Given the description of an element on the screen output the (x, y) to click on. 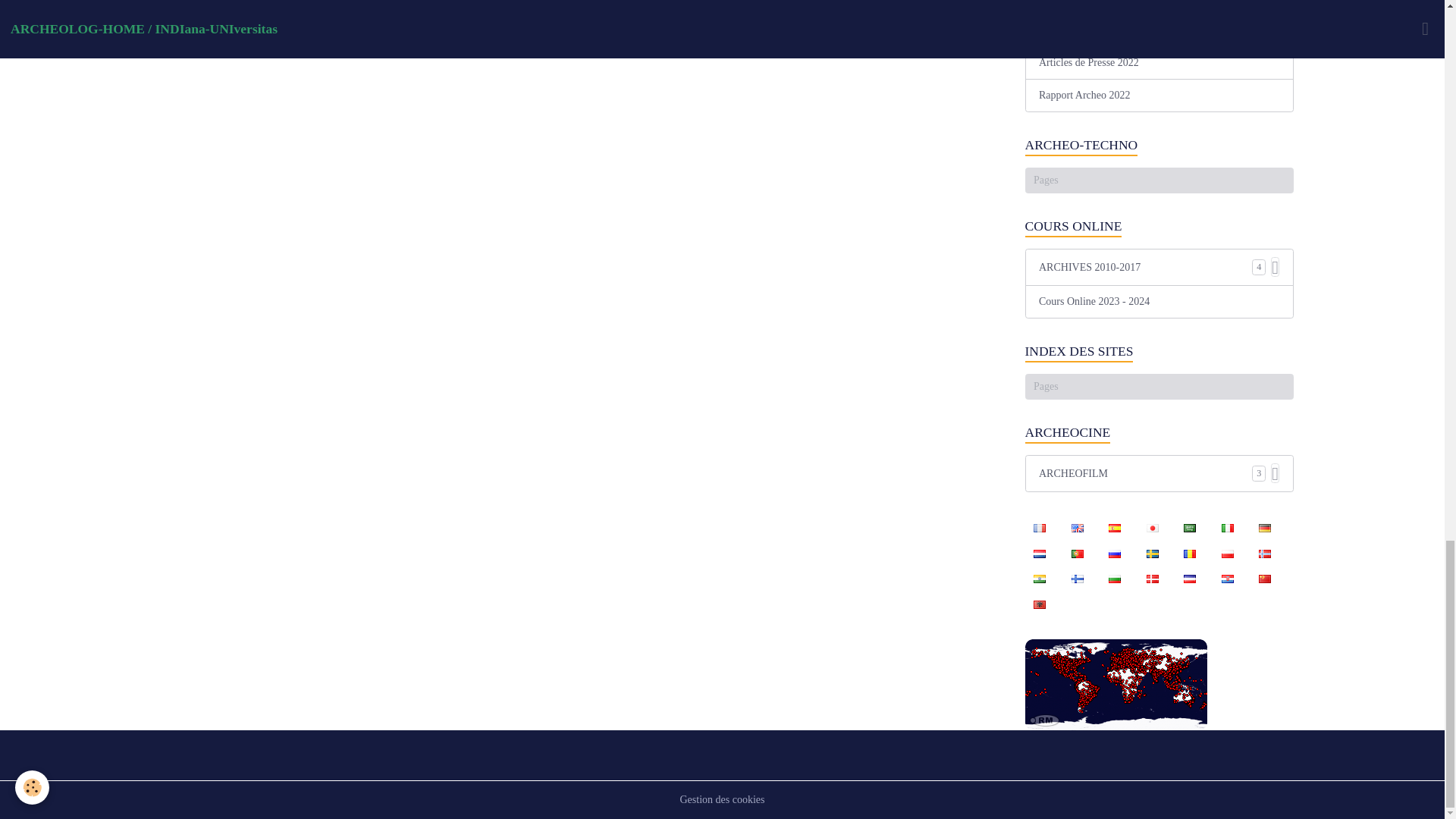
Nederlands (1039, 552)
Arabic (1189, 527)
Italiano (1226, 527)
Russian (1114, 552)
English (1077, 527)
Polish (1226, 552)
Romanian (1189, 552)
Finnish (1077, 578)
Portuguesa (1077, 552)
Czech (1189, 578)
Deutsch (1264, 527)
Danish (1152, 578)
Bulgarian (1114, 578)
Norwegian (1264, 552)
Swedish (1152, 552)
